Given the description of an element on the screen output the (x, y) to click on. 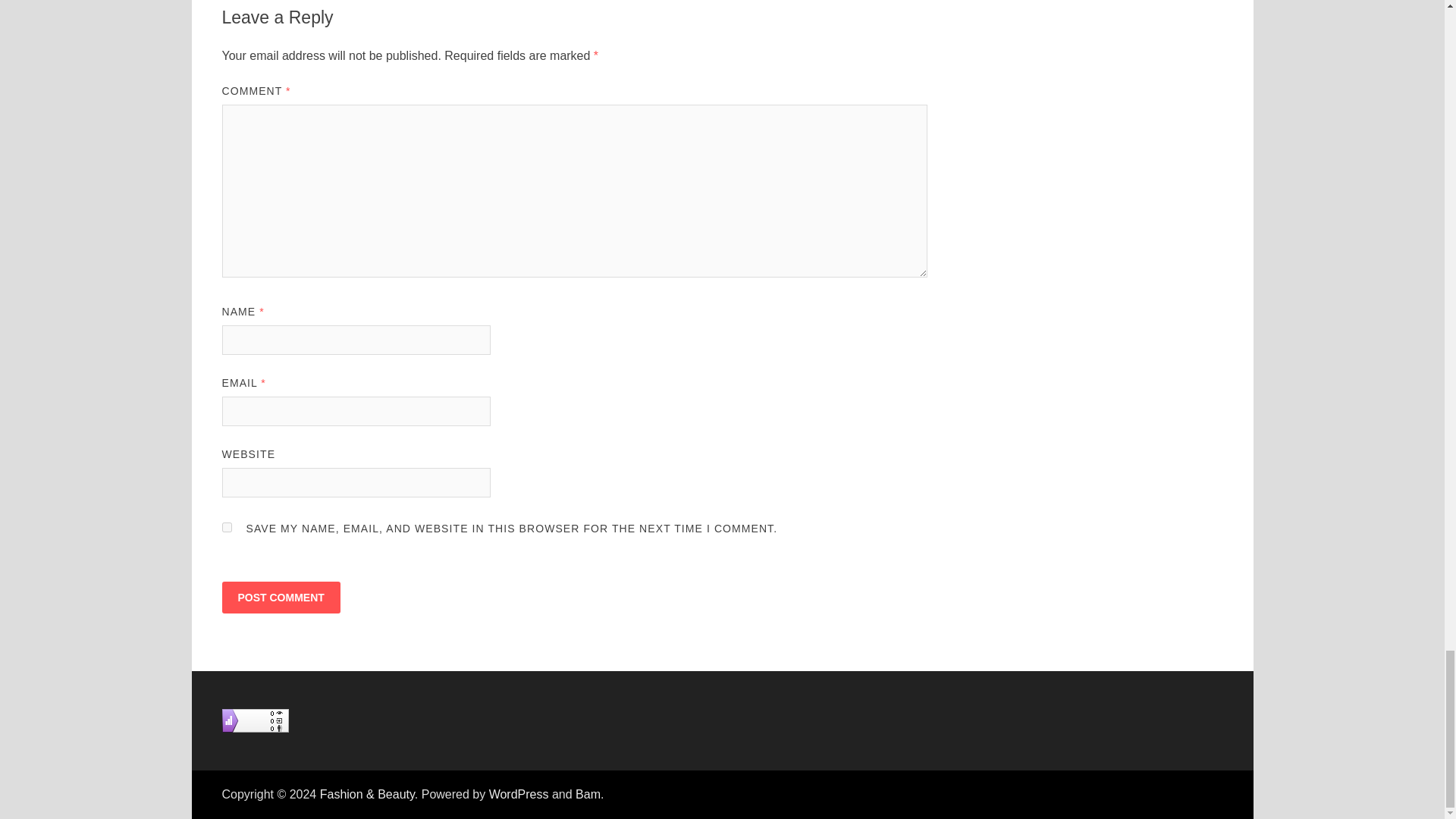
WordPress (518, 793)
yes (226, 527)
Bam (587, 793)
Post Comment (280, 597)
Post Comment (280, 597)
